Given the description of an element on the screen output the (x, y) to click on. 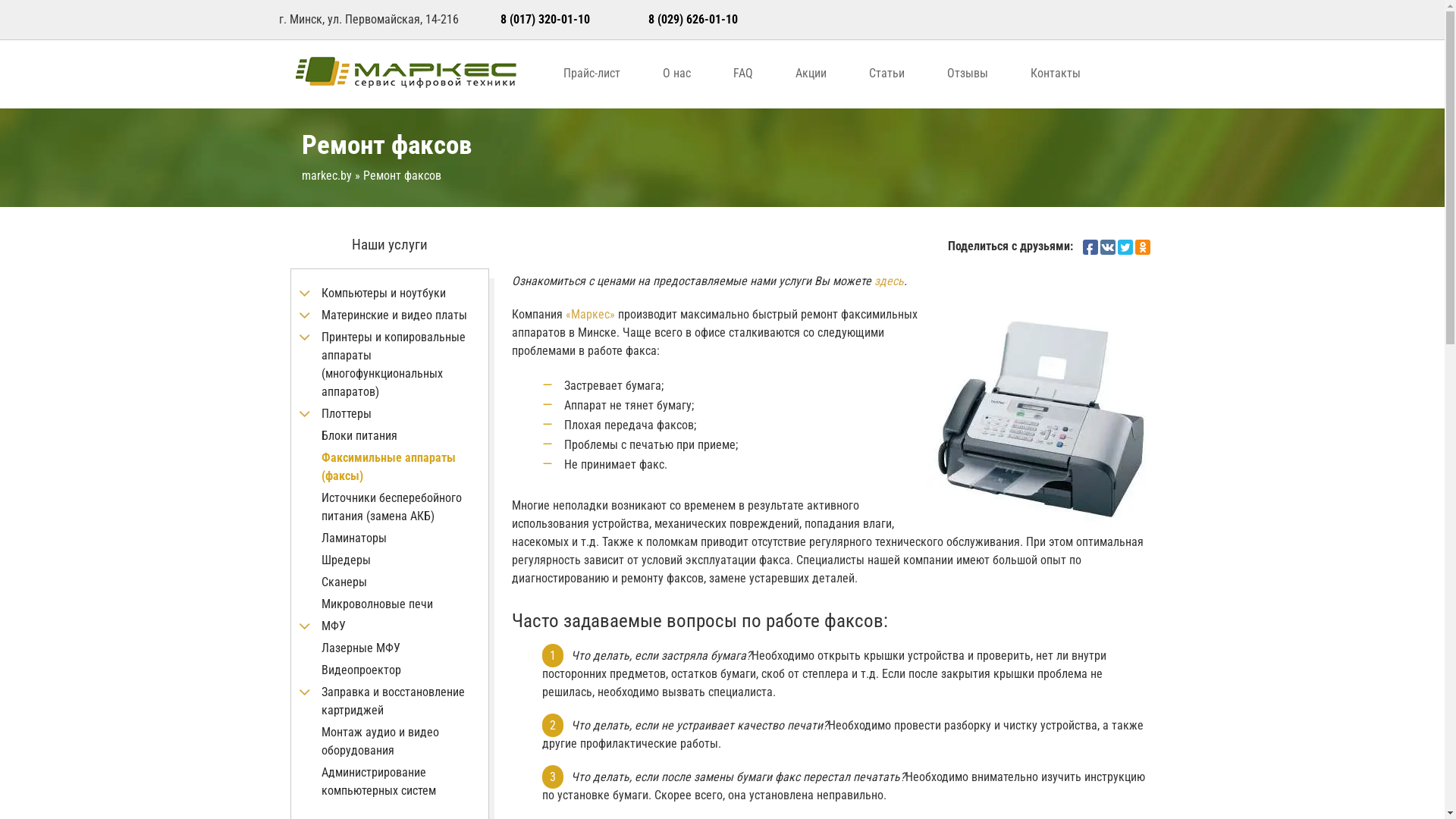
markec.by Element type: text (326, 175)
8 (017) 320-01-10 Element type: text (544, 19)
8 (029) 626-01-10 Element type: text (692, 19)
FAQ Element type: text (743, 72)
